Given the description of an element on the screen output the (x, y) to click on. 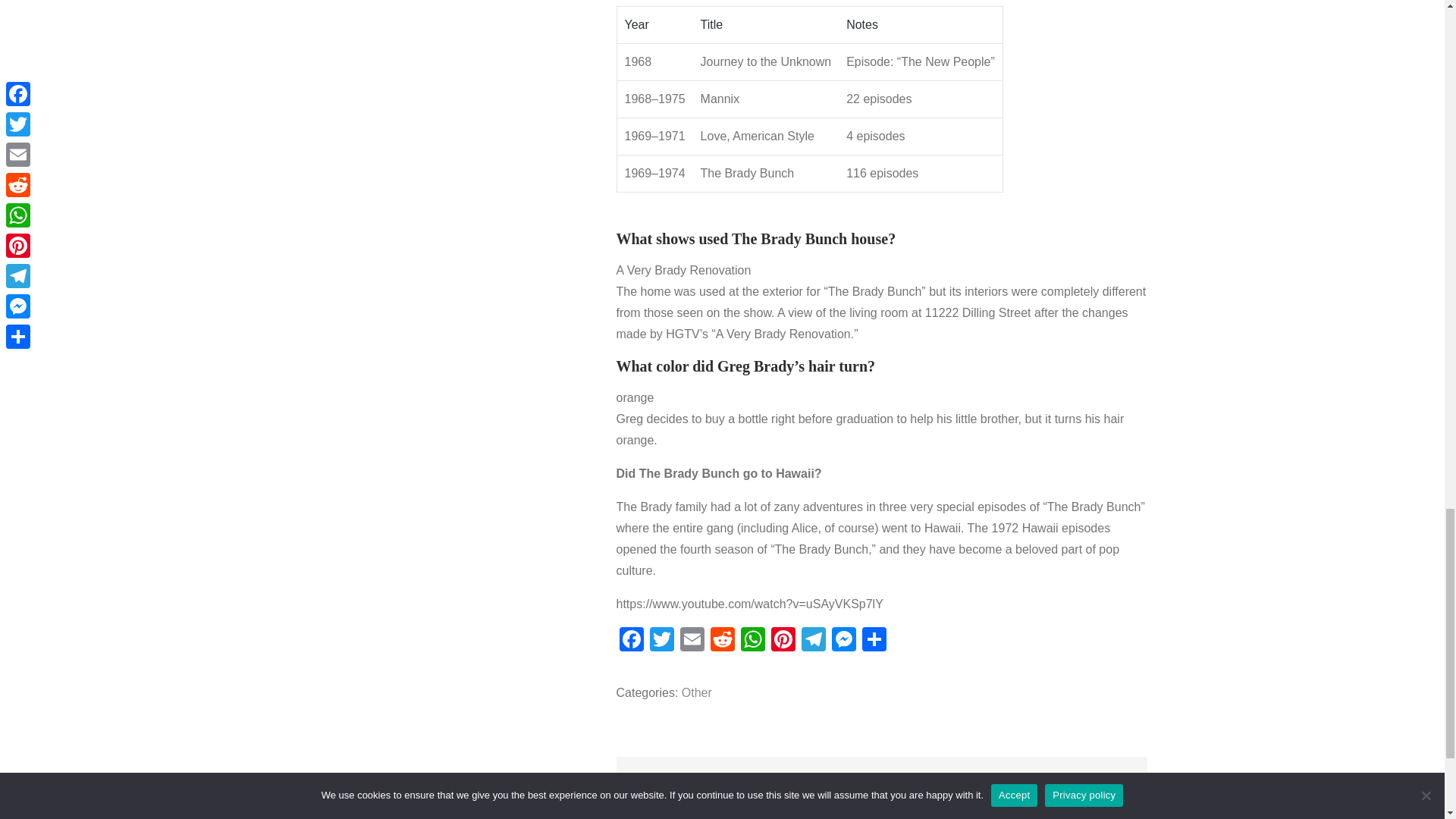
Reddit (721, 641)
Facebook (630, 641)
Telegram (812, 641)
WhatsApp (751, 641)
Messenger (843, 641)
Pinterest (782, 641)
Reddit (721, 641)
Share (873, 641)
Email (691, 641)
Other (696, 692)
Email (691, 641)
Facebook (630, 641)
Telegram (812, 641)
Pinterest (782, 641)
Twitter (661, 641)
